Given the description of an element on the screen output the (x, y) to click on. 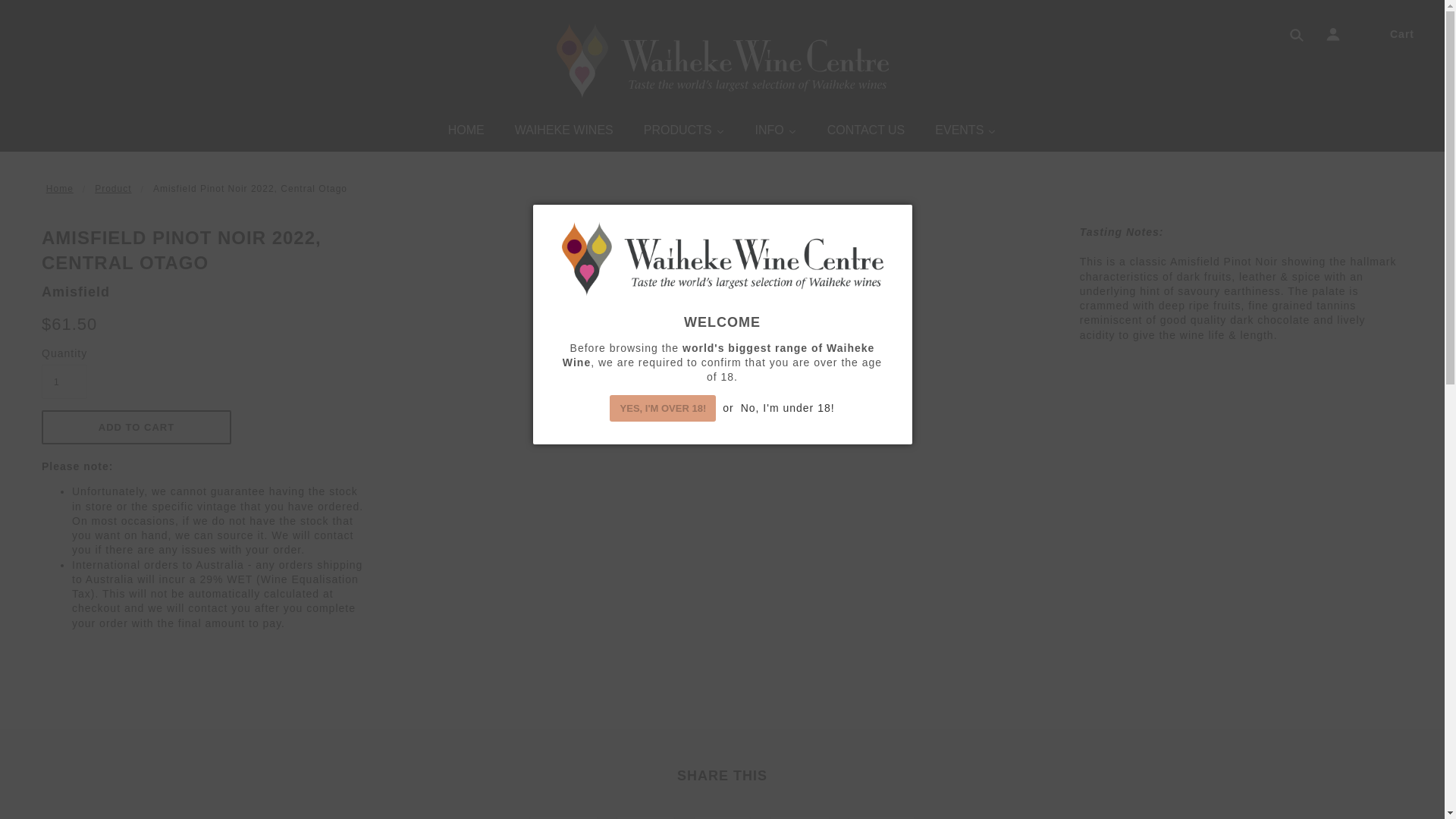
EVENTS (965, 132)
INFO (775, 132)
Product (112, 188)
YES, I'M OVER 18! (663, 407)
PRODUCTS (683, 132)
EVENTS  (965, 132)
CONTACT US (866, 132)
Cart (1401, 33)
Home (60, 188)
1 (64, 381)
PRODUCTS (683, 132)
Amisfield (76, 291)
WAIHEKE WINES (563, 132)
WAIHEKE WINES (563, 132)
HOME (465, 132)
